Given the description of an element on the screen output the (x, y) to click on. 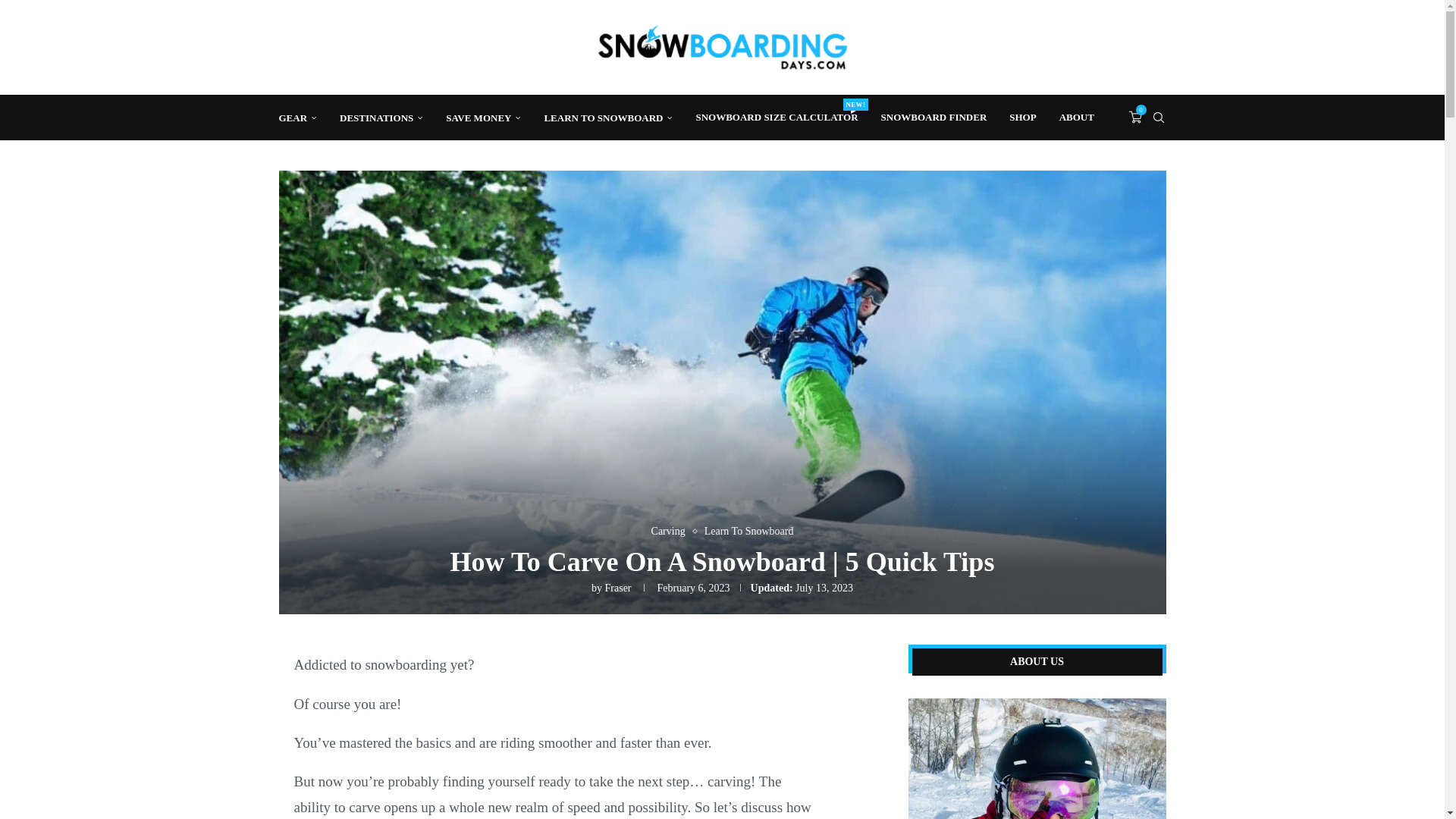
SAVE MONEY (483, 117)
SNOWBOARD FINDER (933, 117)
DESTINATIONS (381, 117)
LEARN TO SNOWBOARD (776, 117)
